Given the description of an element on the screen output the (x, y) to click on. 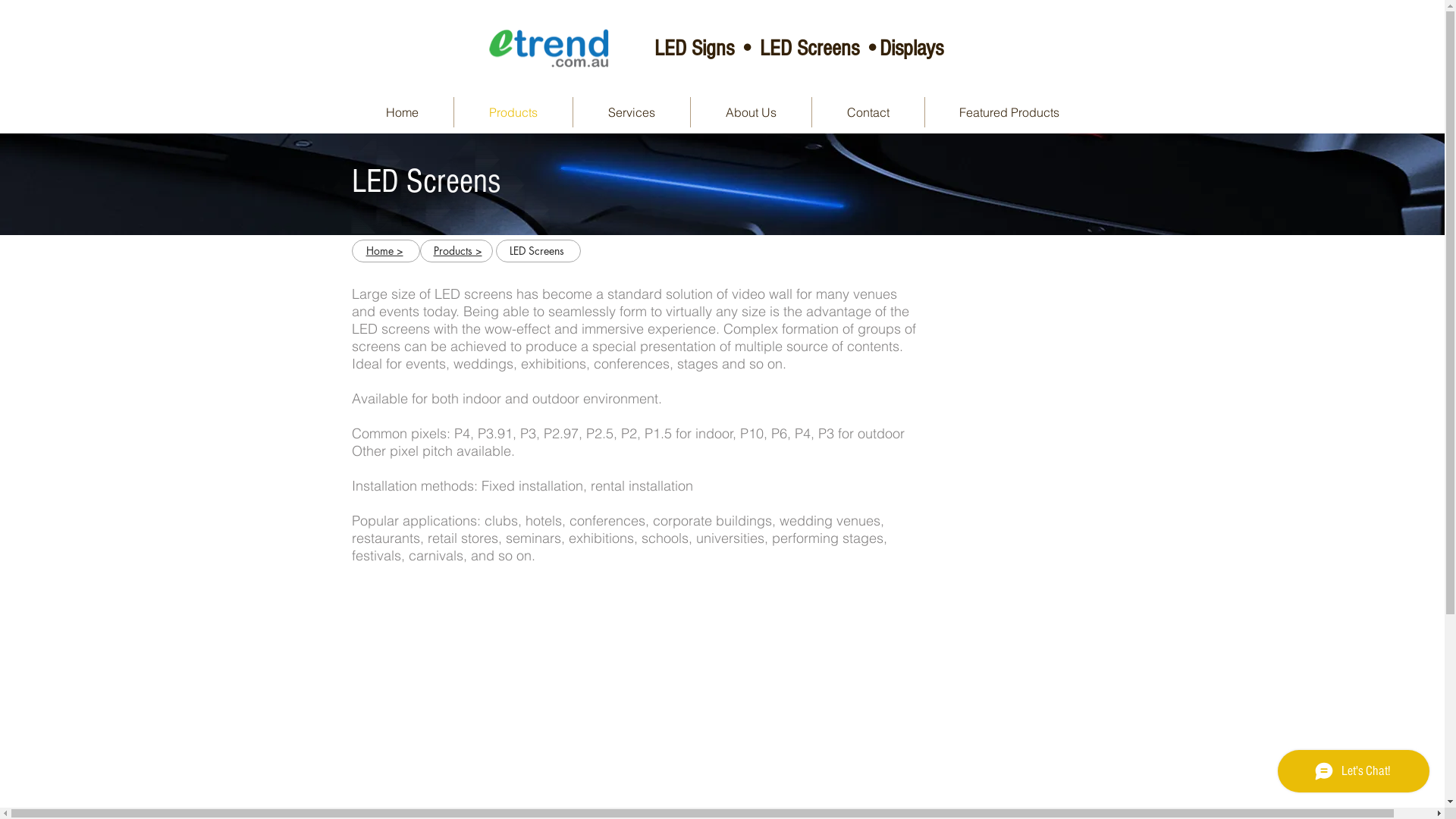
Wix Chat Element type: hover (1357, 774)
Contact Element type: text (867, 112)
Products > Element type: text (457, 251)
Home Element type: text (401, 112)
Featured Products Element type: text (1009, 112)
About Us Element type: text (750, 112)
Products Element type: text (512, 112)
Home > Element type: text (383, 251)
Services Element type: text (631, 112)
